Given the description of an element on the screen output the (x, y) to click on. 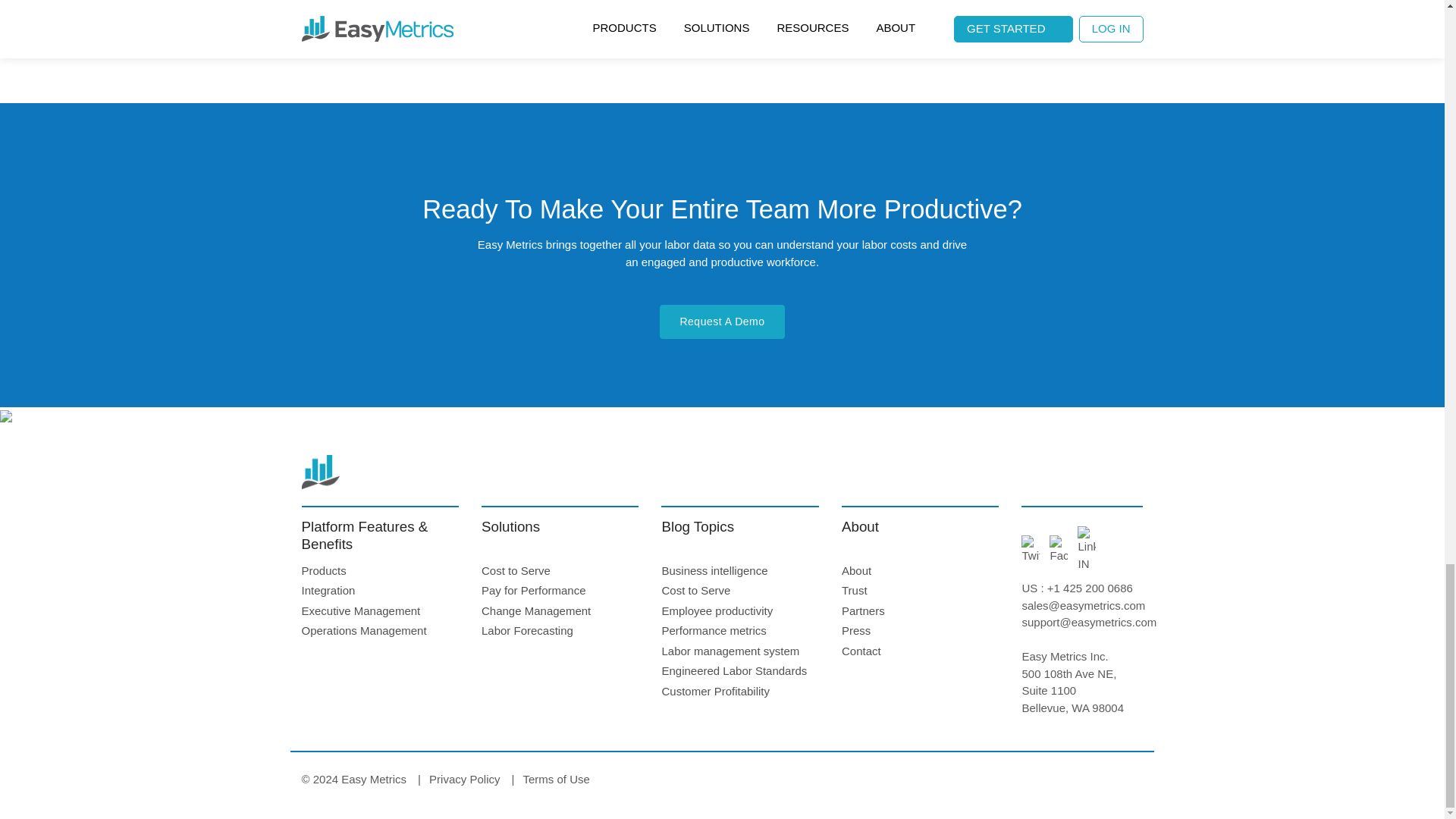
Employee productivity (717, 610)
Pay for Performance (533, 590)
Business intelligence (714, 570)
Change Management (536, 610)
Products (323, 570)
Cost to Serve (515, 570)
Executive Management (360, 610)
Integration (328, 590)
Cost to Serve (695, 590)
Request A Demo (721, 321)
